Given the description of an element on the screen output the (x, y) to click on. 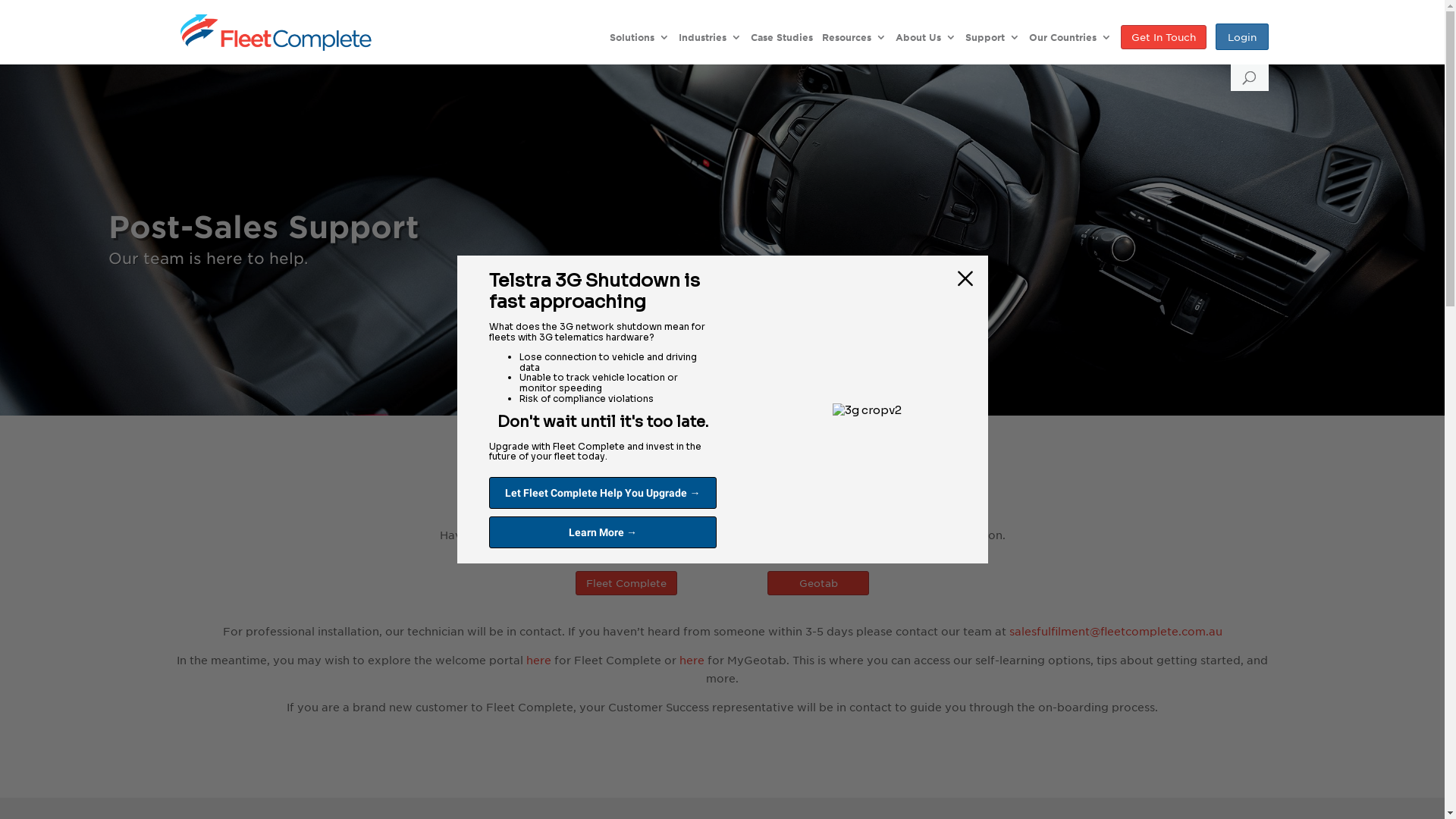
Solutions Element type: text (639, 40)
here Element type: text (538, 659)
here Element type: text (691, 659)
Support Element type: text (991, 40)
About Us Element type: text (924, 40)
Login Element type: text (1240, 40)
Our Countries Element type: text (1069, 40)
Skip to content Element type: text (0, 0)
salesfulfilment@fleetcomplete.com.au Element type: text (1114, 630)
Get In Touch Element type: text (1163, 40)
Fleet Complete Element type: text (626, 583)
Resources Element type: text (854, 40)
Case Studies Element type: text (781, 40)
Geotab Element type: text (818, 583)
Industries Element type: text (708, 40)
